Given the description of an element on the screen output the (x, y) to click on. 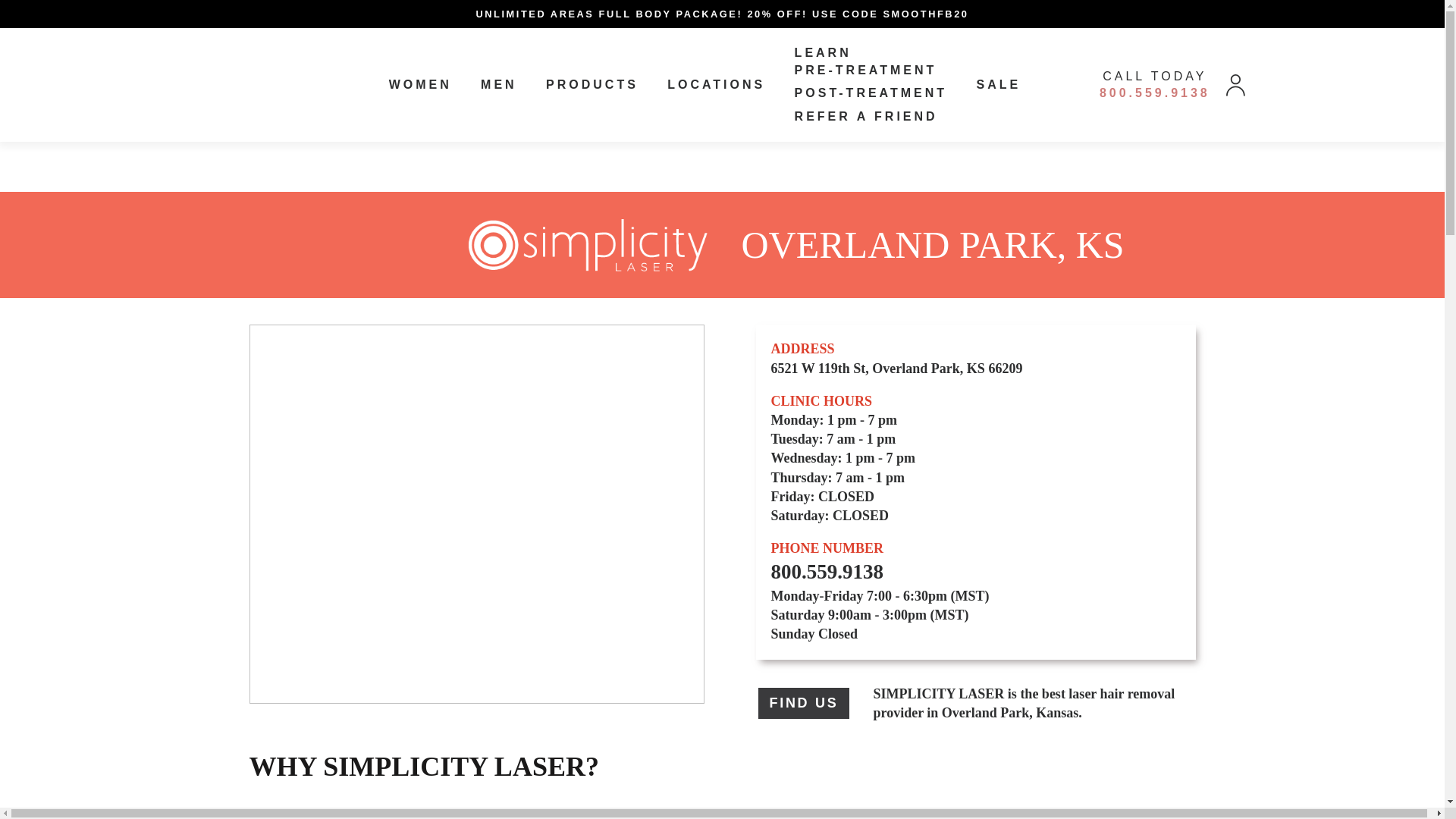
LOCATIONS (715, 83)
PRE-TREATMENT (865, 70)
LEARN (822, 51)
FIND US (804, 703)
POST-TREATMENT (870, 93)
WOMEN (419, 83)
MEN (498, 83)
800.559.9138 (1154, 92)
SALE (997, 83)
PRODUCTS (592, 83)
